Given the description of an element on the screen output the (x, y) to click on. 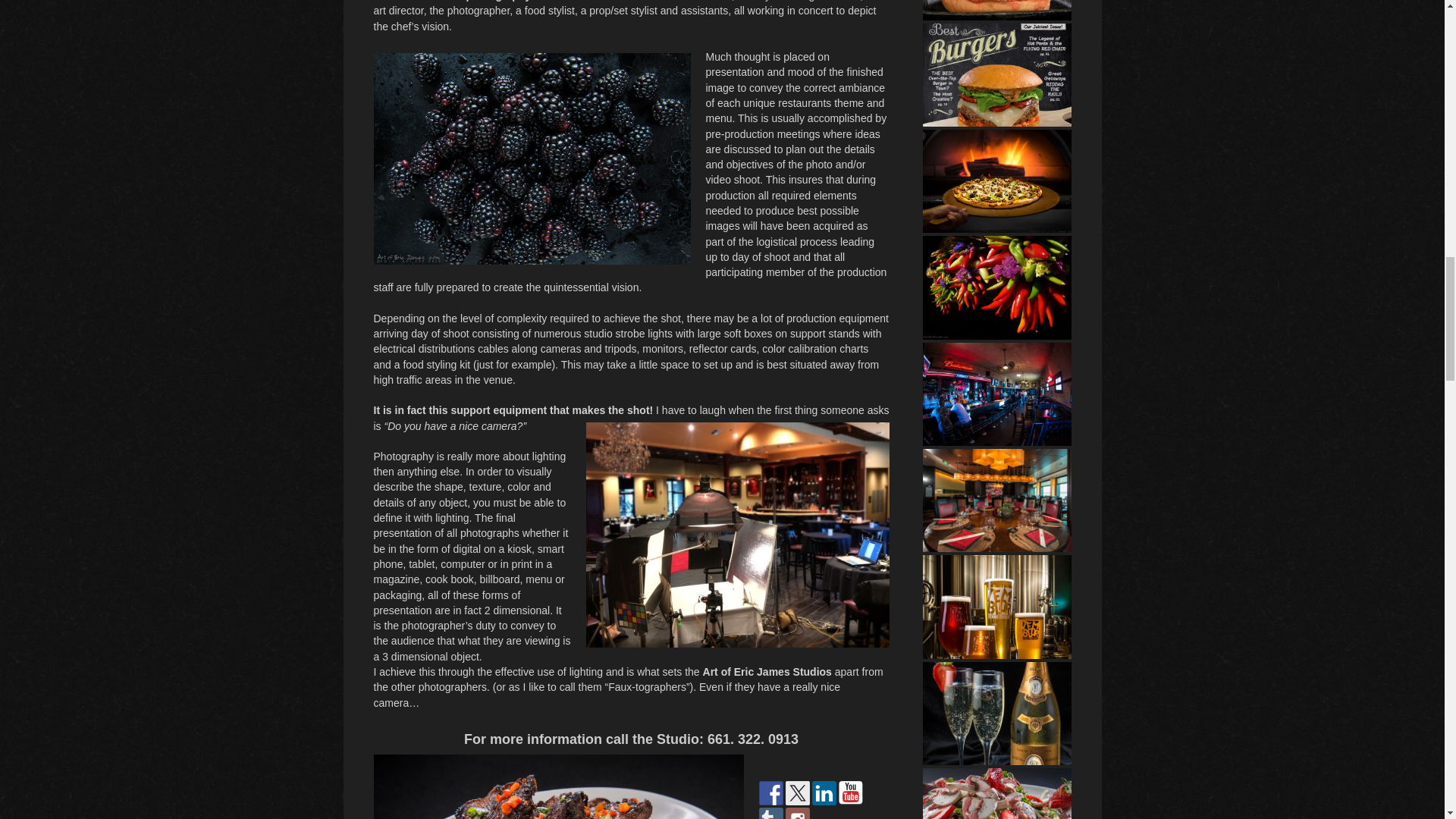
instagram (797, 813)
Twitter (797, 793)
Facebook (770, 793)
YouTube (850, 793)
Find us on Linkedin (822, 793)
Find us on tumblr (770, 813)
